Given the description of an element on the screen output the (x, y) to click on. 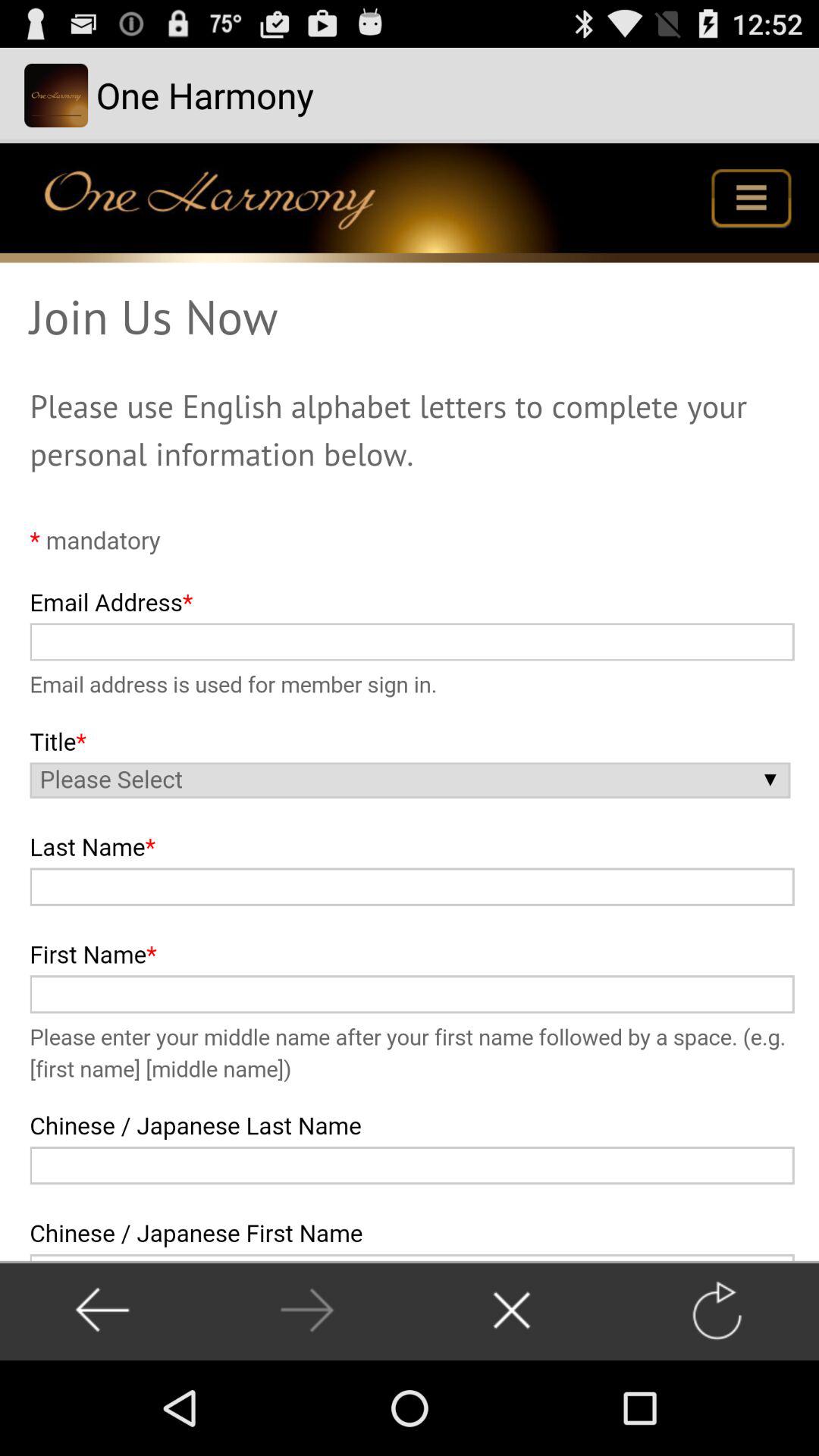
close page (511, 1310)
